Given the description of an element on the screen output the (x, y) to click on. 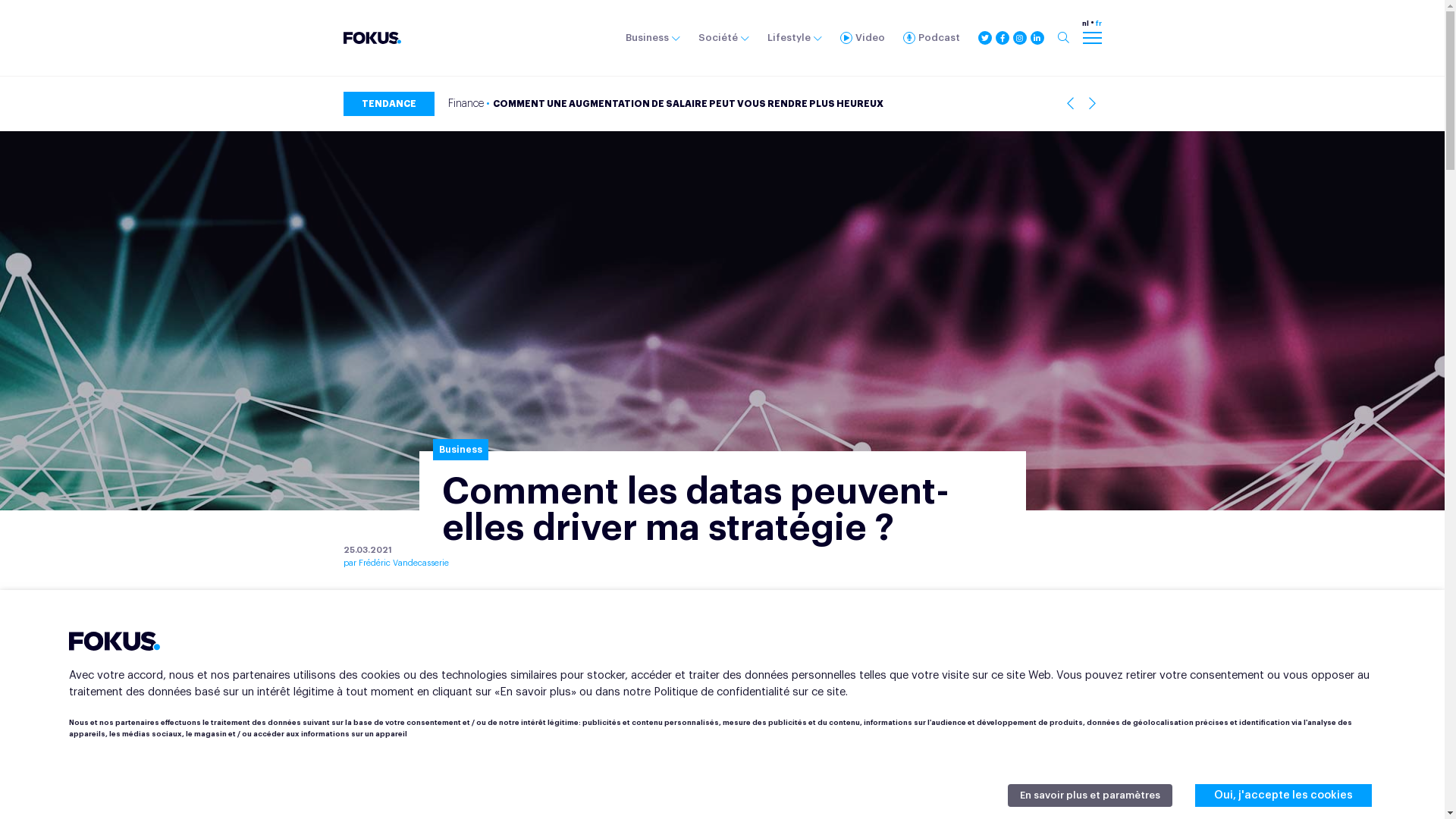
fr Element type: text (1098, 23)
Video Element type: text (862, 37)
Oui, j'accepte les cookies Element type: text (1283, 795)
Lifestyle Element type: text (794, 37)
nl Element type: text (1084, 23)
Business Element type: text (651, 37)
Podcast Element type: text (930, 37)
